Given the description of an element on the screen output the (x, y) to click on. 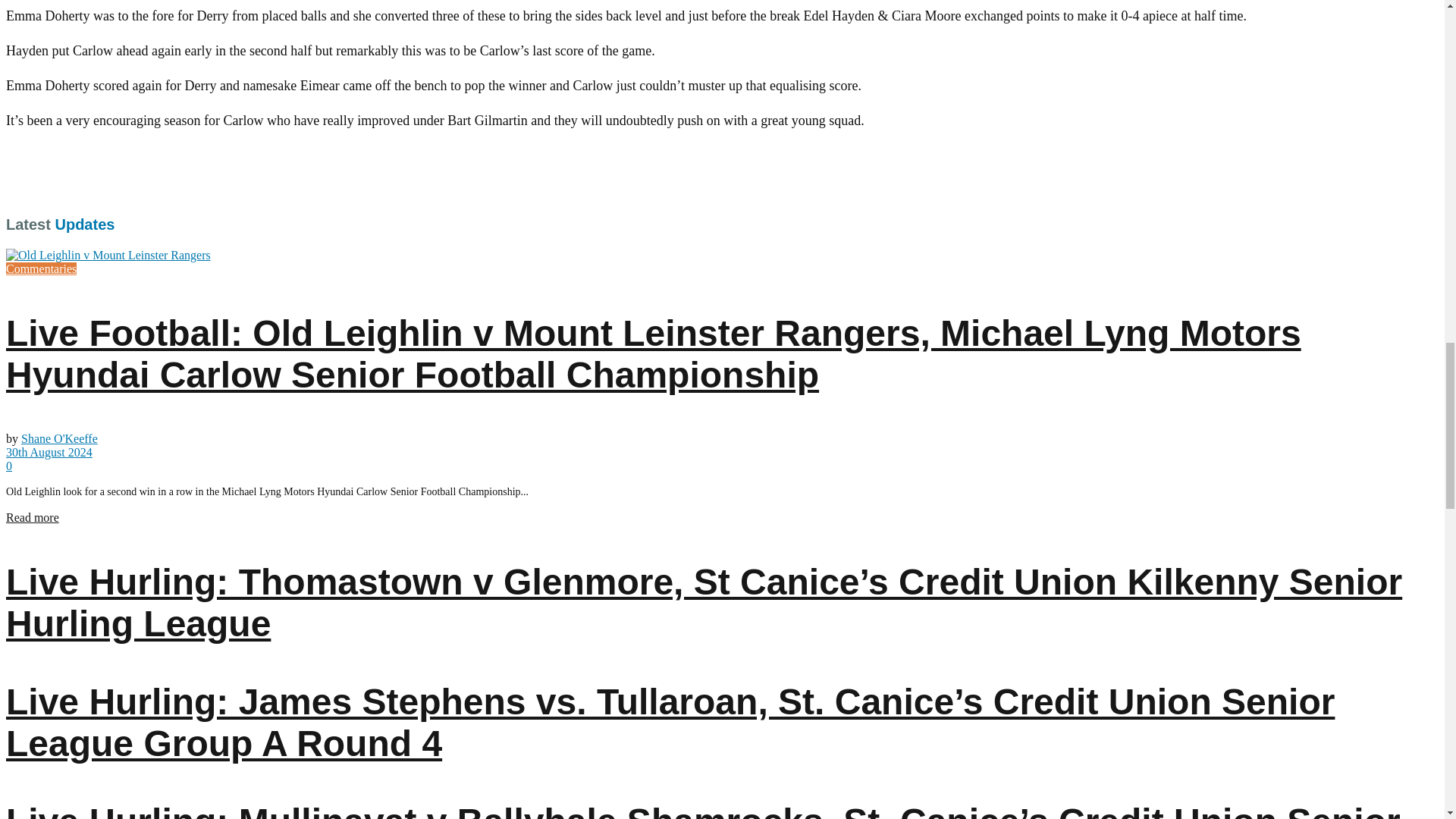
30th August 2024 (49, 451)
Read more (32, 517)
Shane O'Keeffe (59, 438)
Commentaries (41, 268)
